Given the description of an element on the screen output the (x, y) to click on. 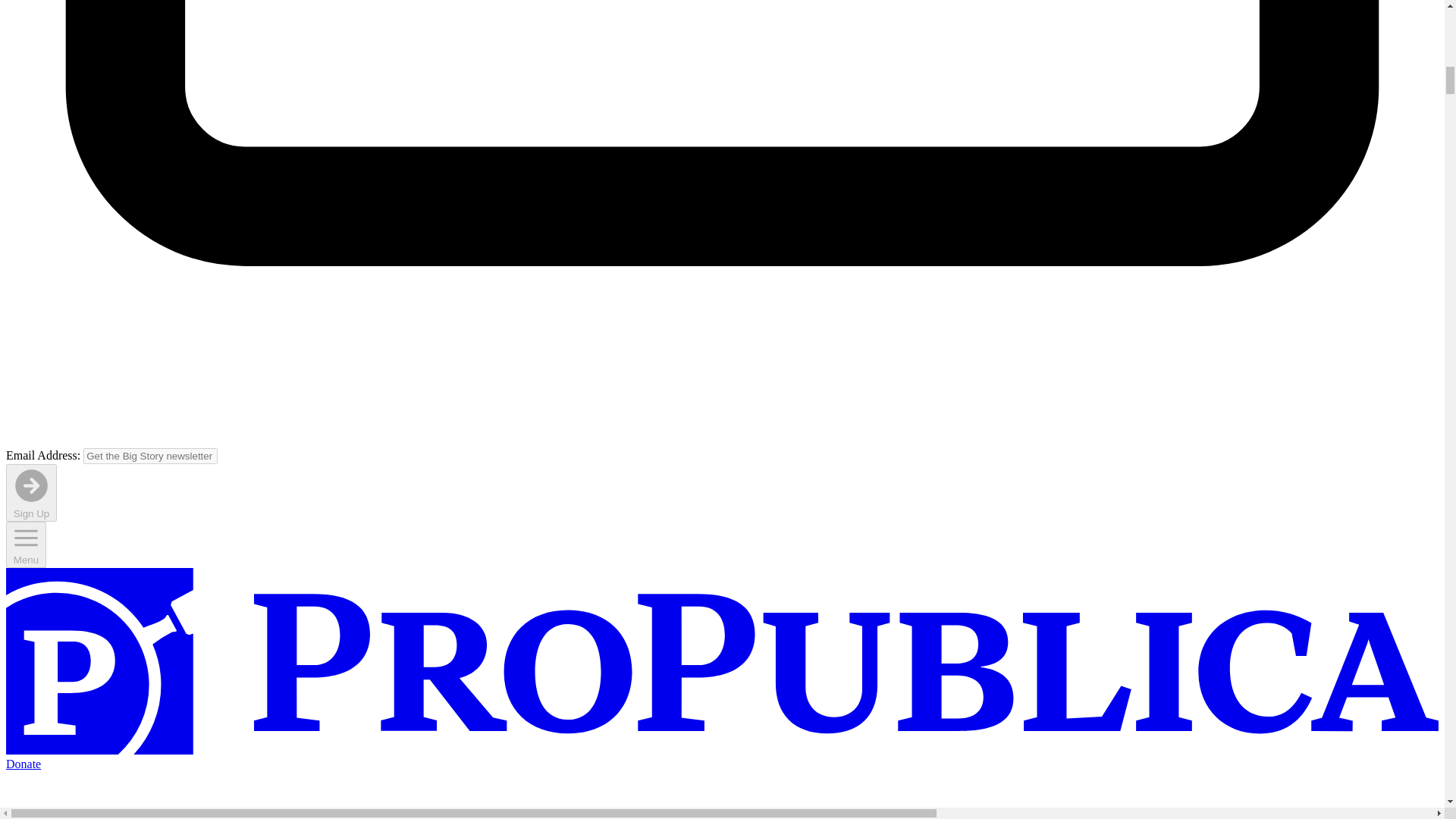
Arrow Right Sign Up (30, 492)
Donate (22, 763)
Arrow Right (30, 485)
Menu (25, 538)
